Given the description of an element on the screen output the (x, y) to click on. 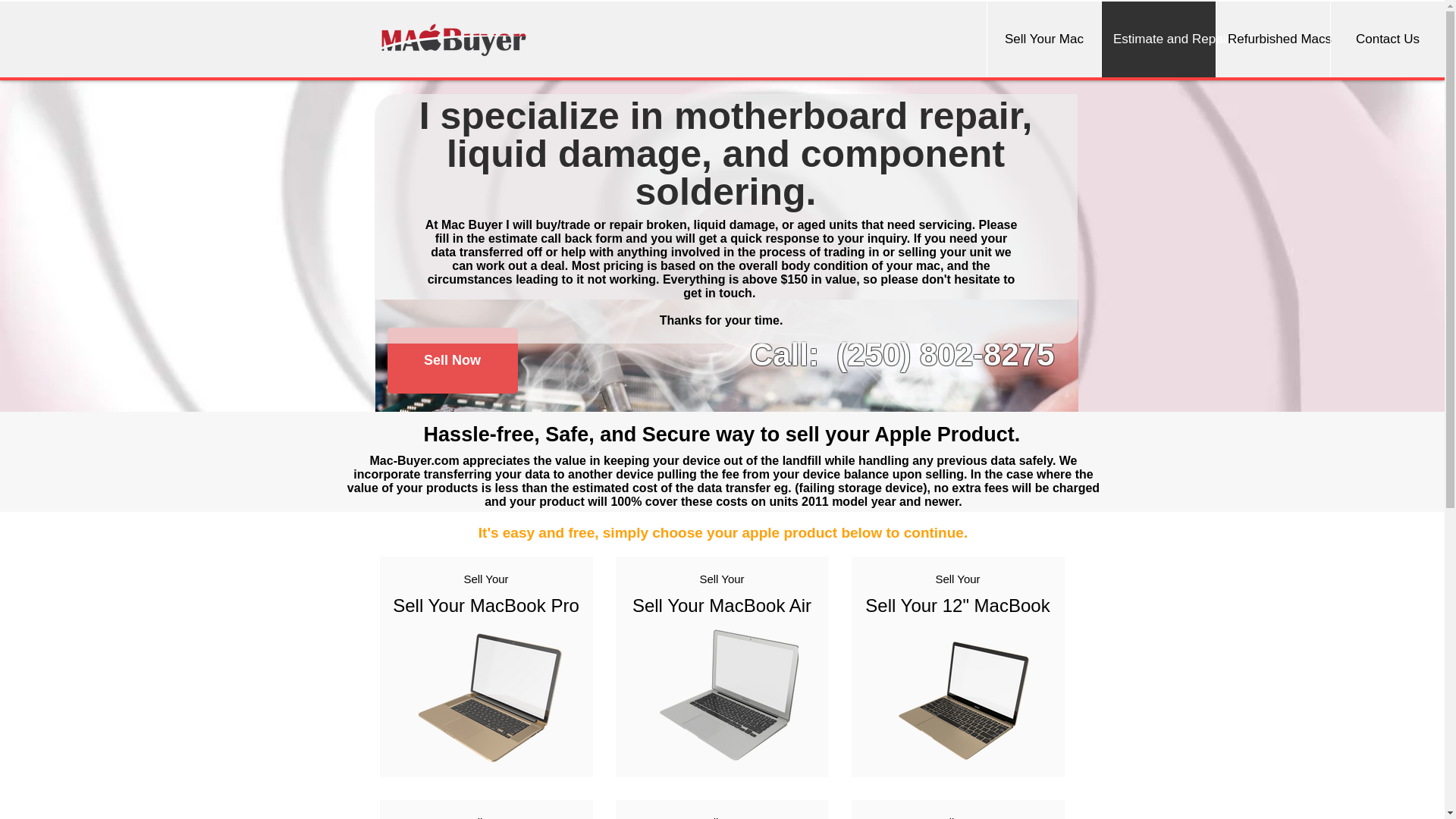
Sell Now (451, 360)
Estimate and Repairs (1157, 38)
ell Your MacBook Air (727, 605)
Sell Your MacBook Pro (485, 605)
ell Your 12" MacBook (963, 605)
Refurbished Macs (1272, 38)
